Given the description of an element on the screen output the (x, y) to click on. 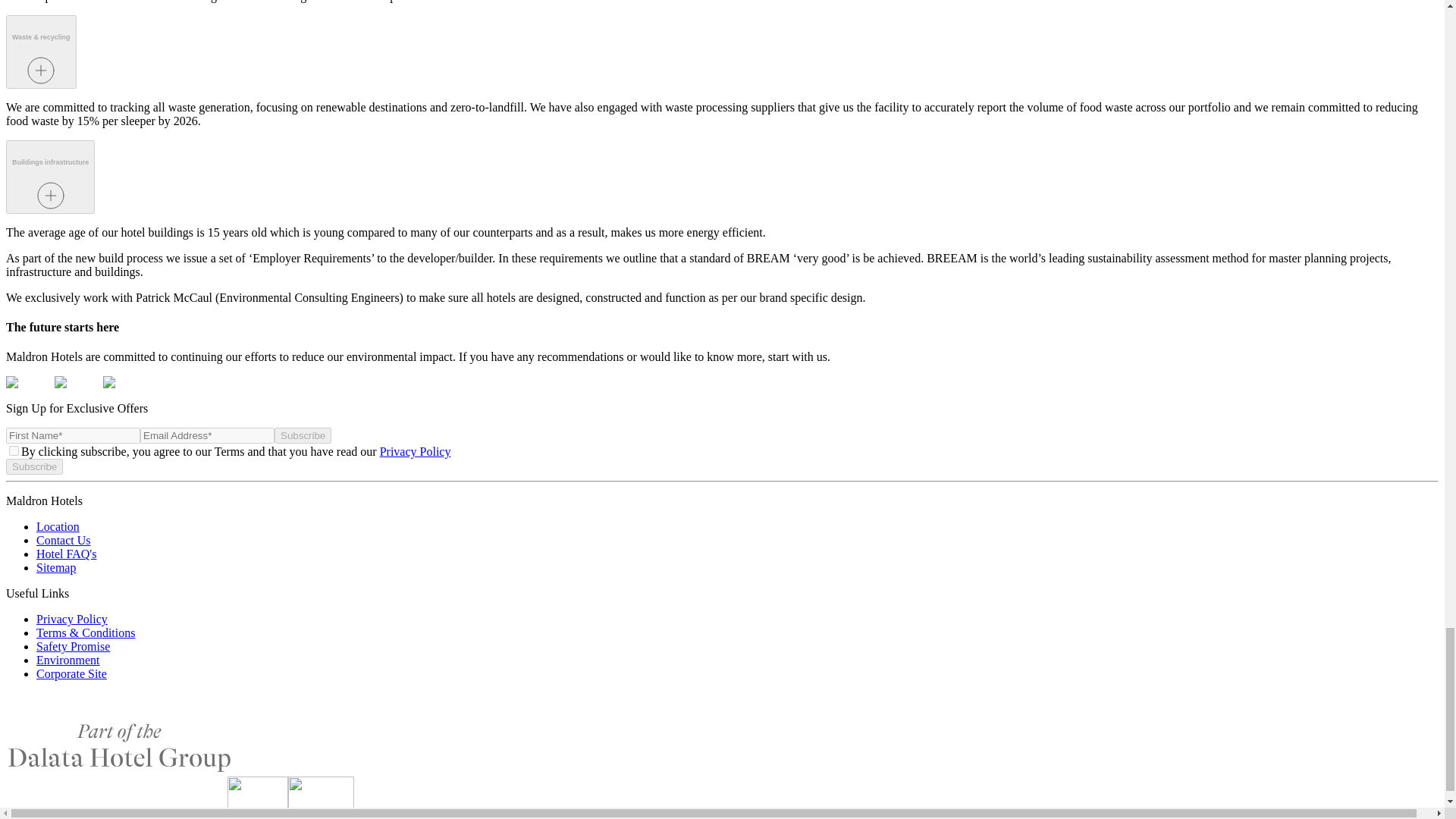
YouTube (90, 712)
Facebook (66, 712)
LinkedIn (115, 712)
terms (13, 450)
X (17, 712)
Subscribe (33, 466)
Subscribe (303, 435)
Instagram (42, 712)
